Given the description of an element on the screen output the (x, y) to click on. 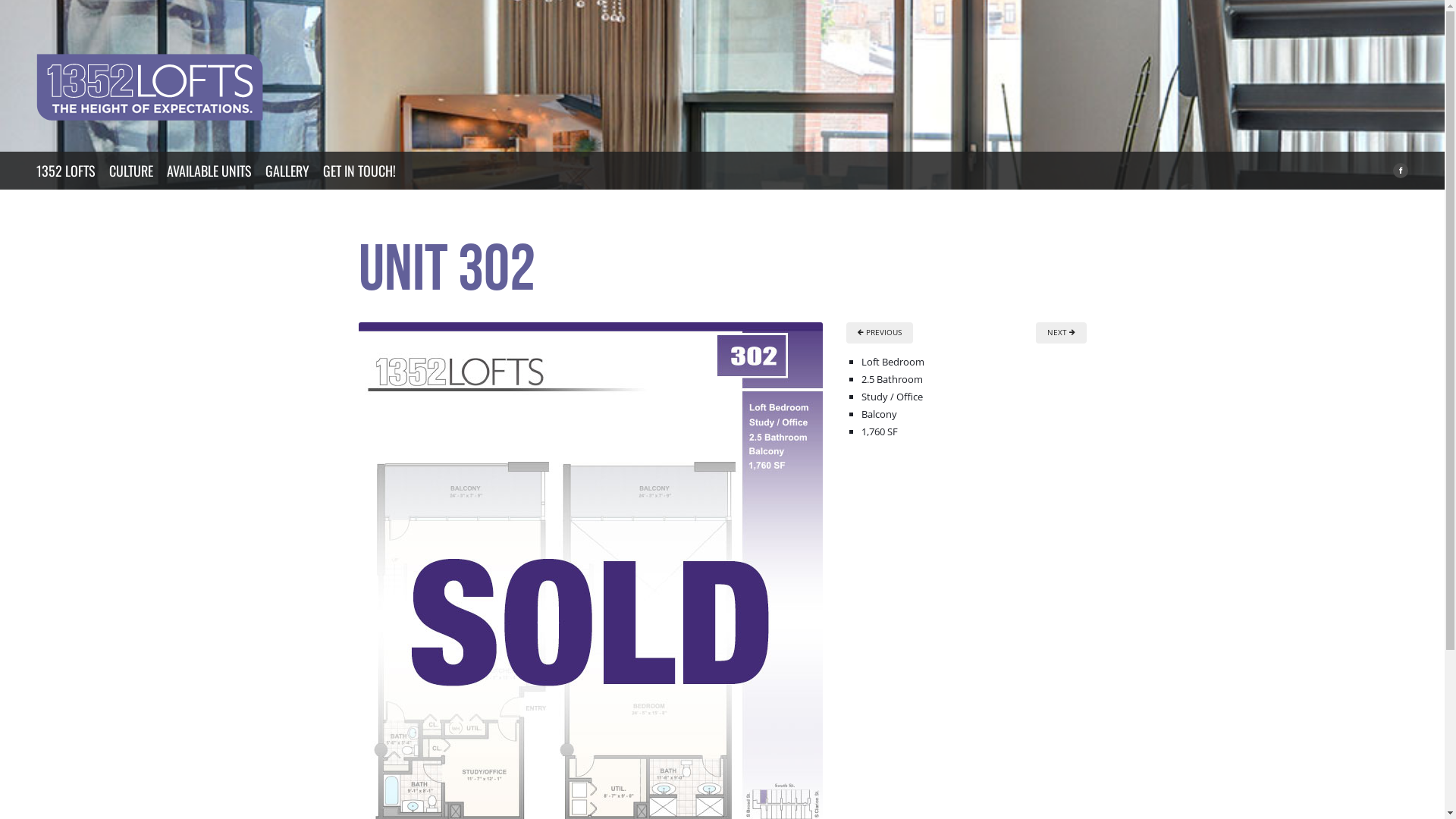
1352 LOFTS Element type: text (65, 170)
1352 Lofts Philadelphia - Lofts For Sale Element type: text (149, 87)
PREVIOUS Element type: text (879, 332)
NEXT Element type: text (1060, 332)
GALLERY Element type: text (287, 170)
CULTURE Element type: text (131, 170)
GET IN TOUCH! Element type: text (359, 170)
AVAILABLE UNITS Element type: text (208, 170)
